Given the description of an element on the screen output the (x, y) to click on. 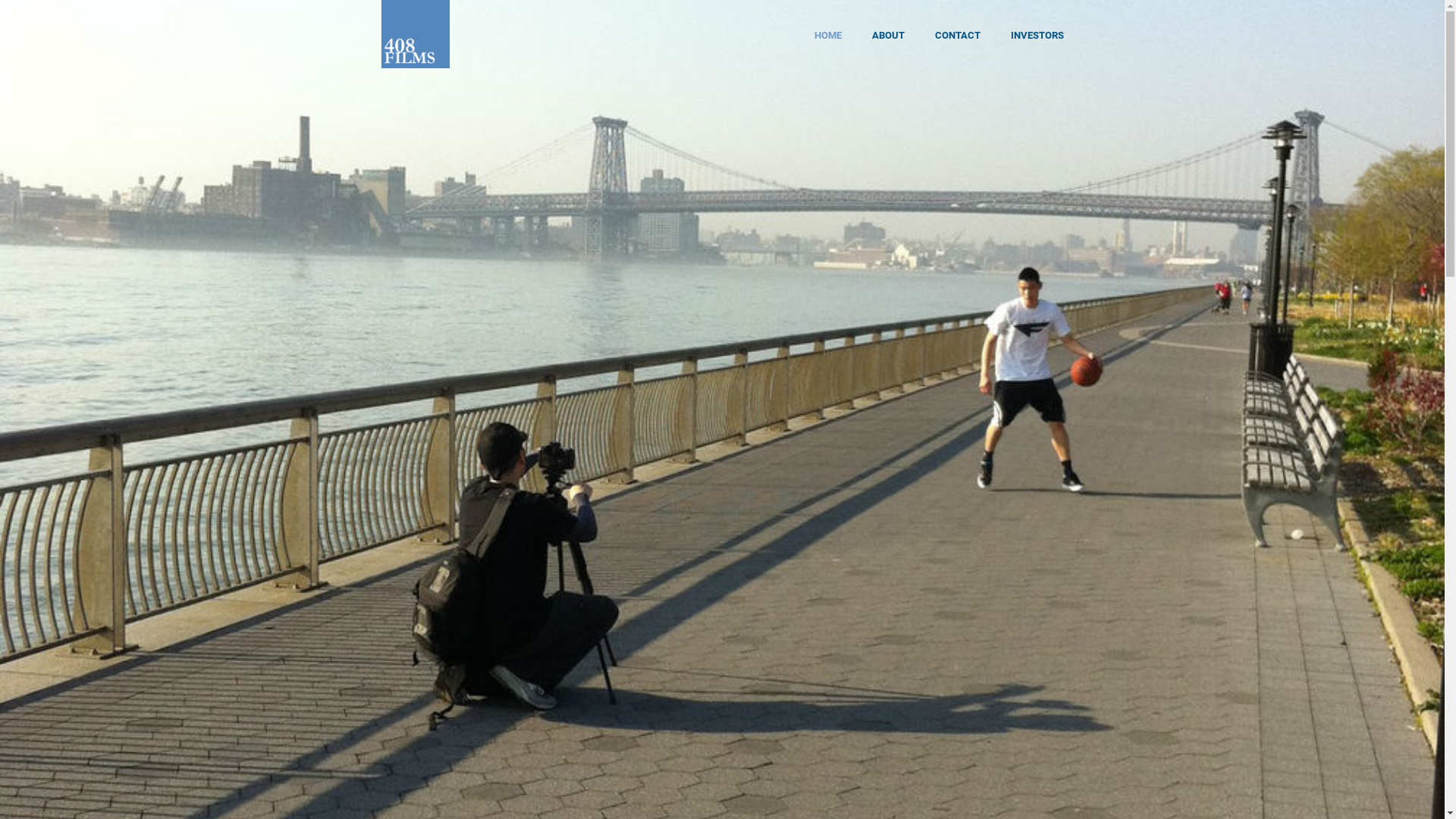
CONTACT Element type: text (956, 34)
ABOUT Element type: text (887, 34)
HOME Element type: text (827, 34)
INVESTORS Element type: text (1036, 34)
